Given the description of an element on the screen output the (x, y) to click on. 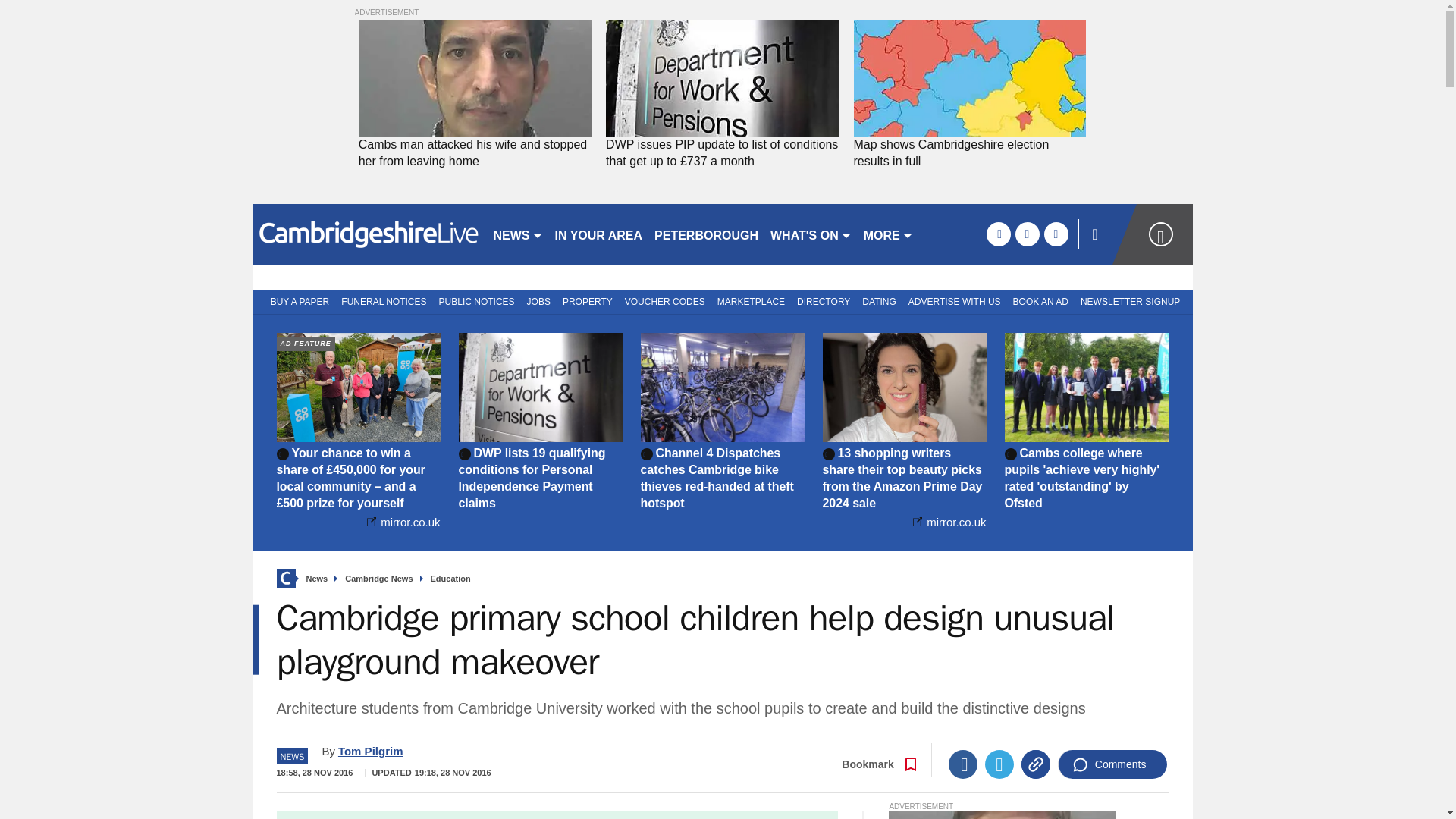
WHAT'S ON (810, 233)
Twitter (999, 764)
Facebook (962, 764)
twitter (1026, 233)
Map shows Cambridgeshire election results in full (969, 152)
Comments (1112, 764)
cambridgenews (365, 233)
Map shows Cambridgeshire election results in full (969, 78)
Map shows Cambridgeshire election results in full (969, 152)
MORE (887, 233)
instagram (1055, 233)
facebook (997, 233)
